Given the description of an element on the screen output the (x, y) to click on. 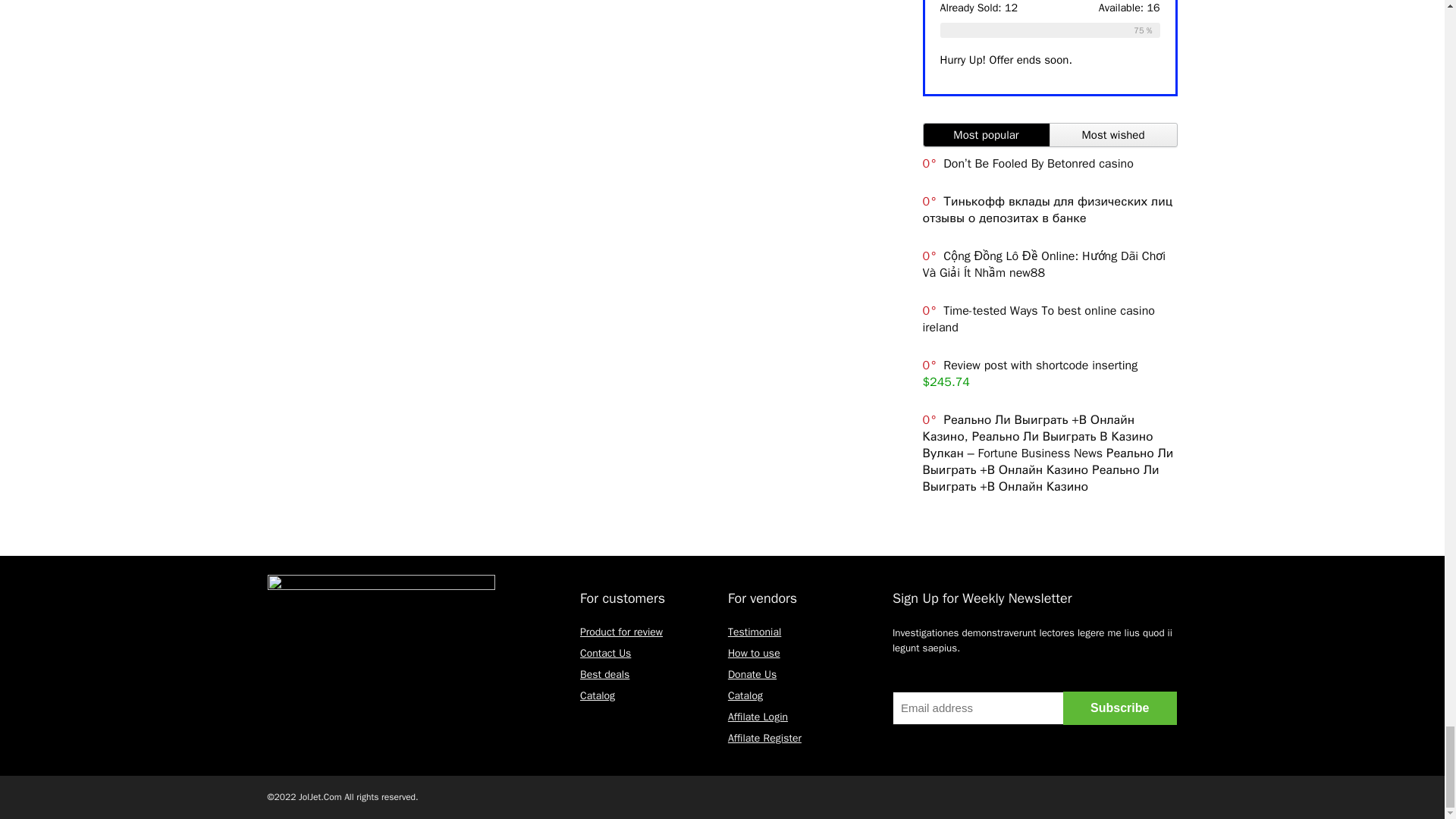
Subscribe (1119, 707)
